Given the description of an element on the screen output the (x, y) to click on. 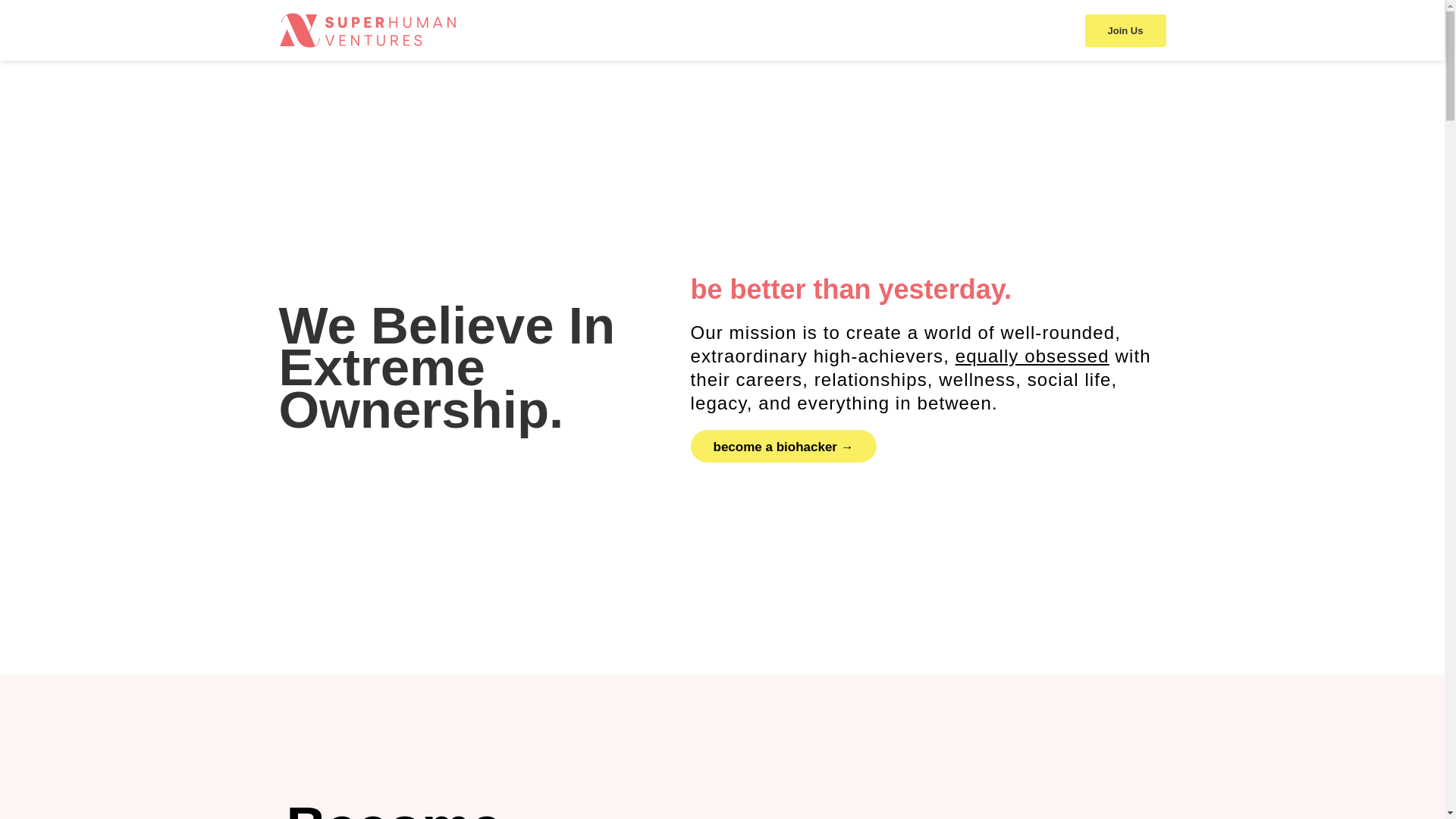
Join Us (1125, 29)
